Given the description of an element on the screen output the (x, y) to click on. 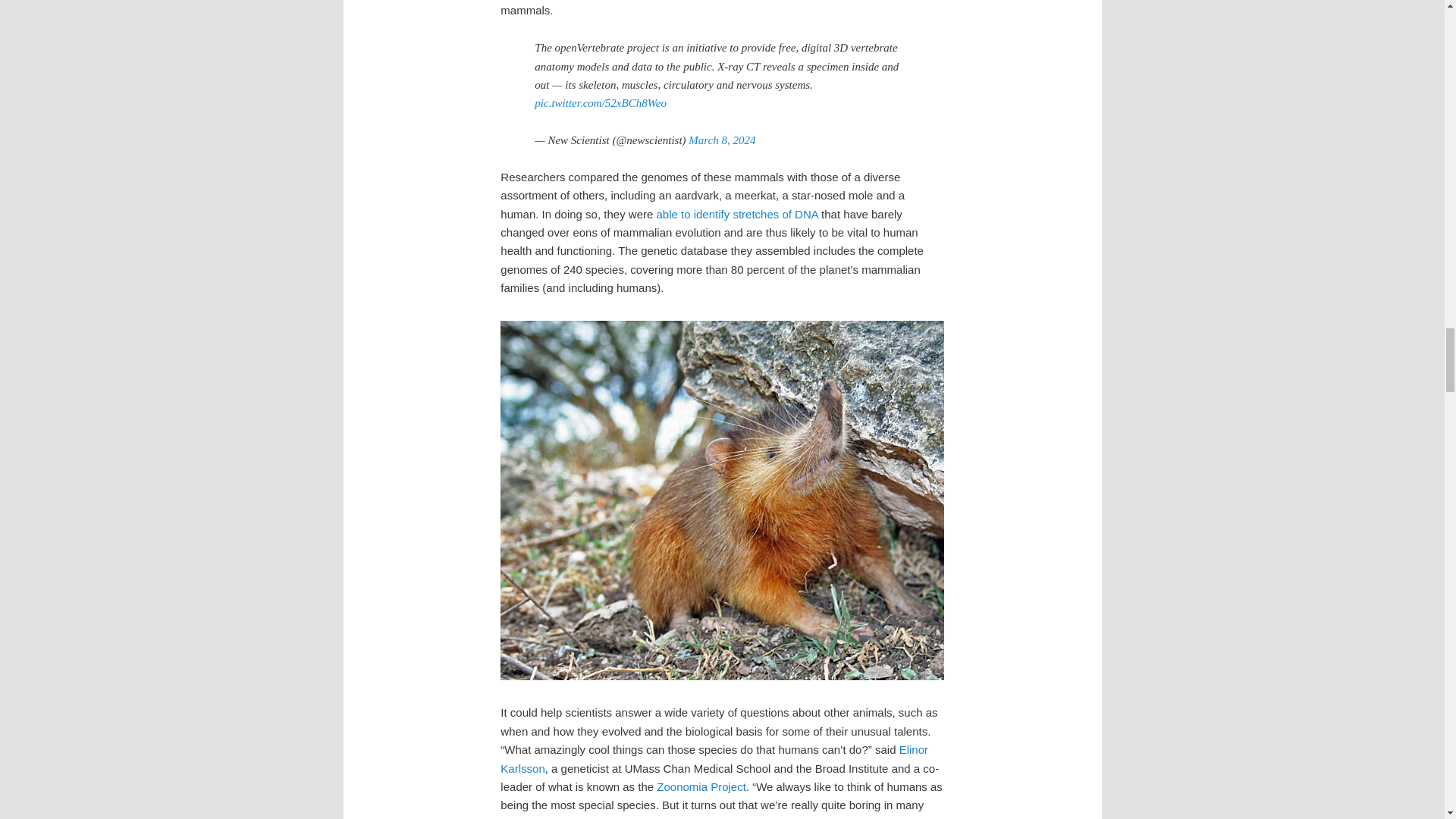
Zoonomia Project (700, 786)
Elinor Karlsson (714, 757)
able to identify stretches of DNA (736, 214)
March 8, 2024 (721, 140)
